Given the description of an element on the screen output the (x, y) to click on. 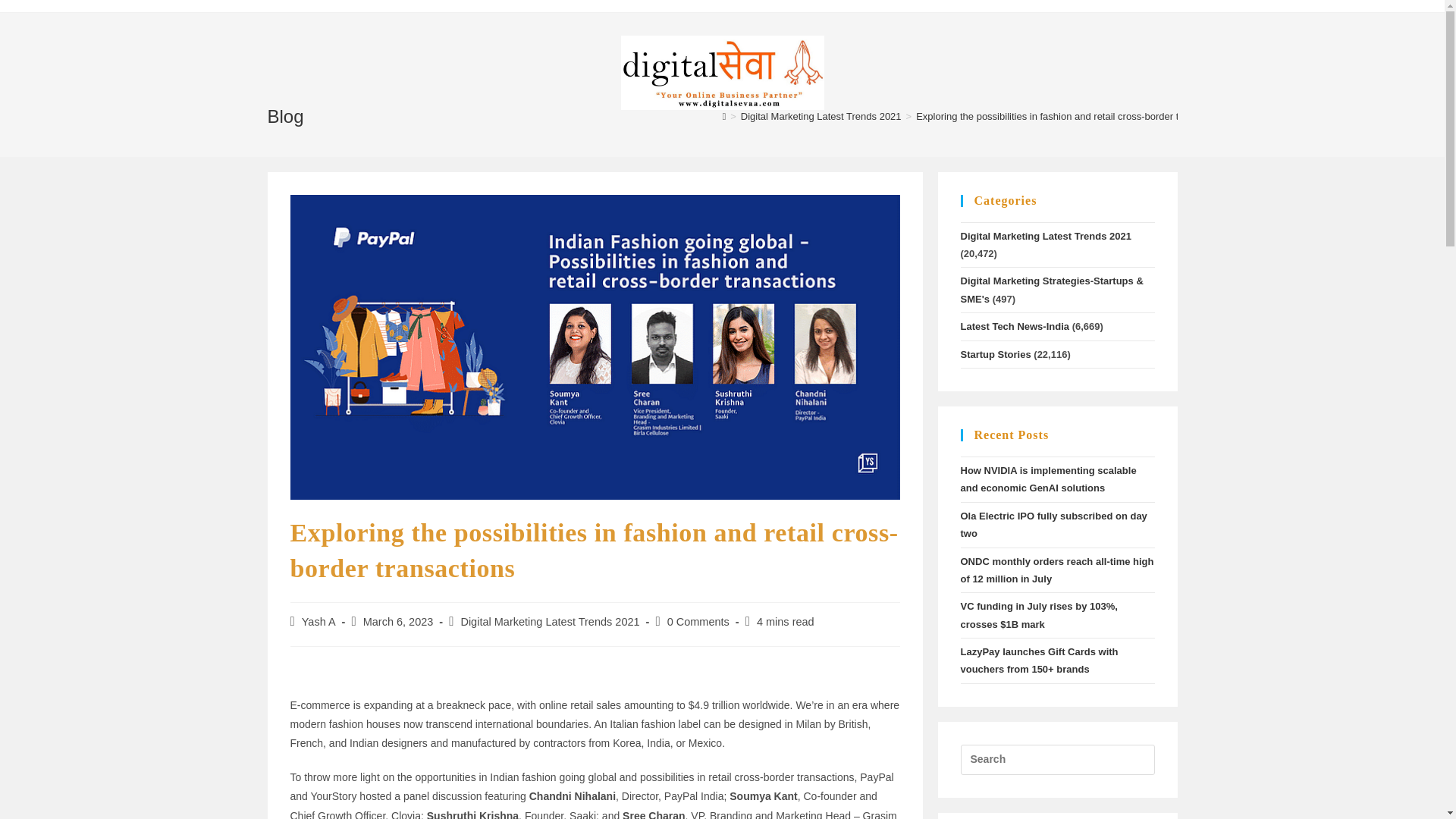
Posts by Yash A (318, 621)
Startup Stories (994, 354)
0 Comments (697, 621)
Latest Tech News-India (1013, 326)
Ola Electric IPO fully subscribed on day two (1053, 524)
Digital Marketing Latest Trends 2021 (549, 621)
Digital Marketing Latest Trends 2021 (821, 116)
Yash A (318, 621)
Digital Marketing Latest Trends 2021 (1045, 235)
